Given the description of an element on the screen output the (x, y) to click on. 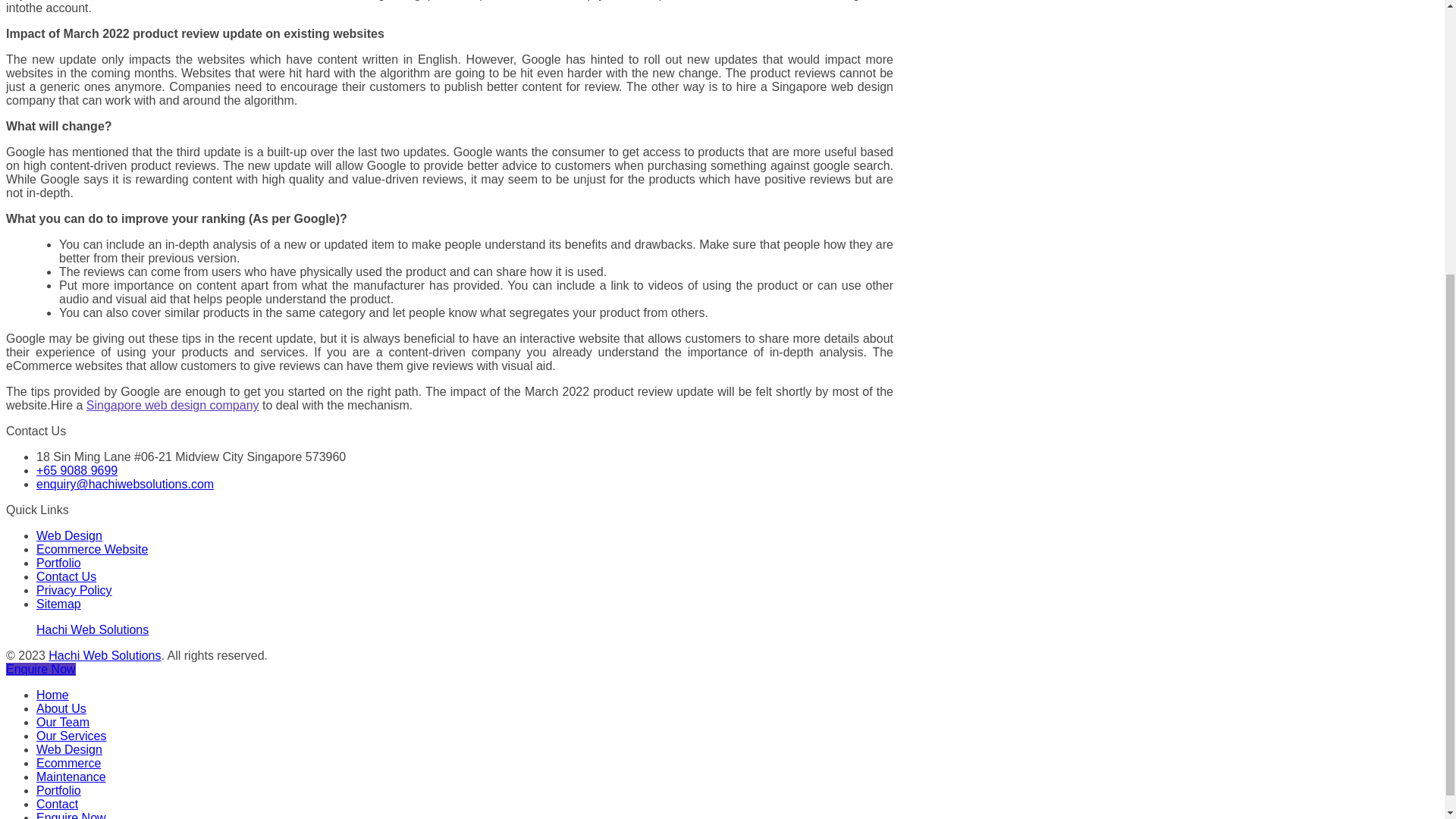
Hachi Web Solutions (104, 655)
Enquire Now (40, 668)
Contact Us (66, 576)
Web Design (68, 535)
Singapore web design company (172, 404)
Ecommerce Website (92, 549)
Sitemap (58, 603)
Portfolio (58, 562)
Hachi Web Solutions (92, 629)
Privacy Policy (74, 590)
